Given the description of an element on the screen output the (x, y) to click on. 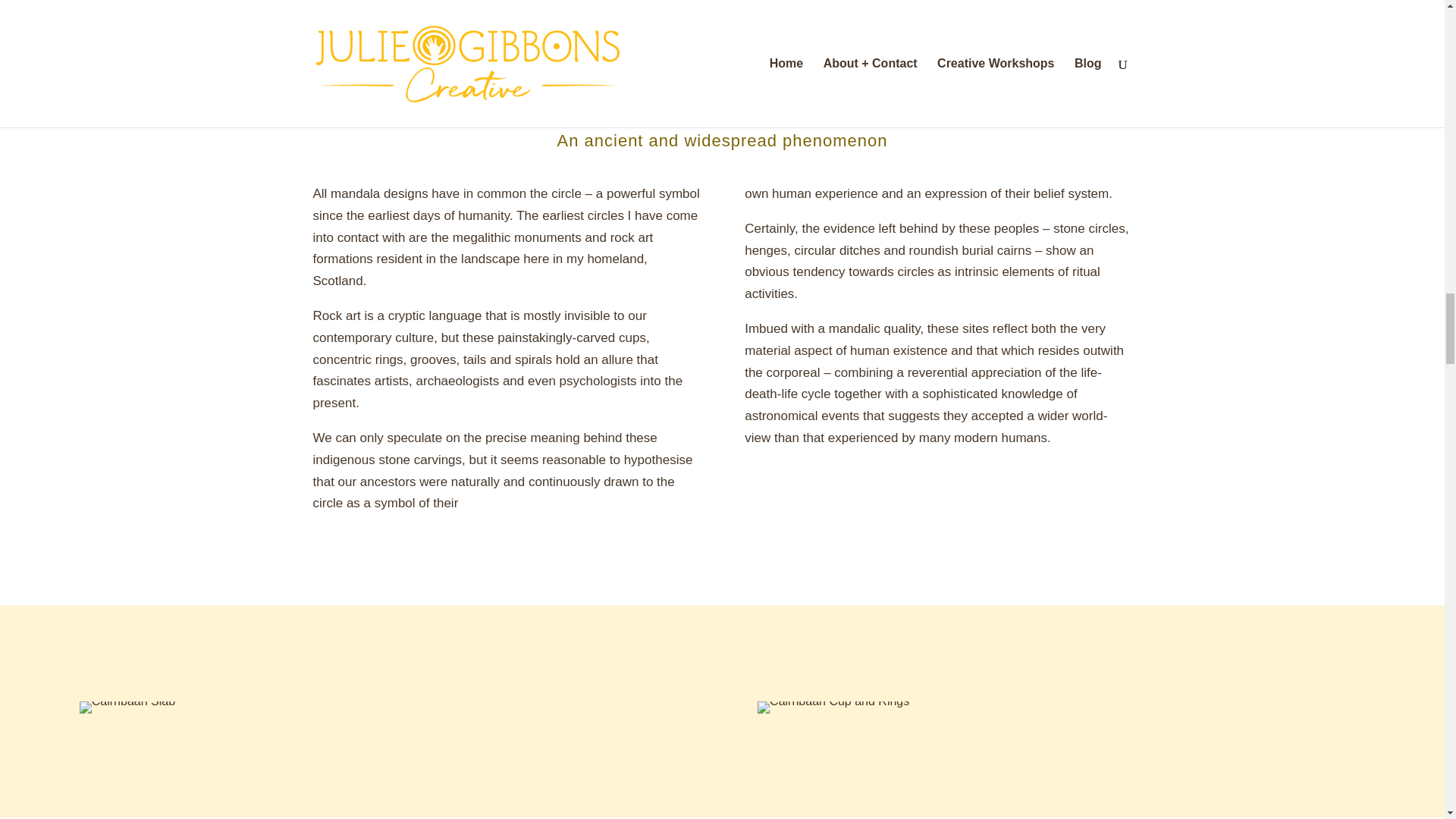
Cairnbaan Cup and Rings (832, 707)
Cairnbaan Slab (127, 707)
